Given the description of an element on the screen output the (x, y) to click on. 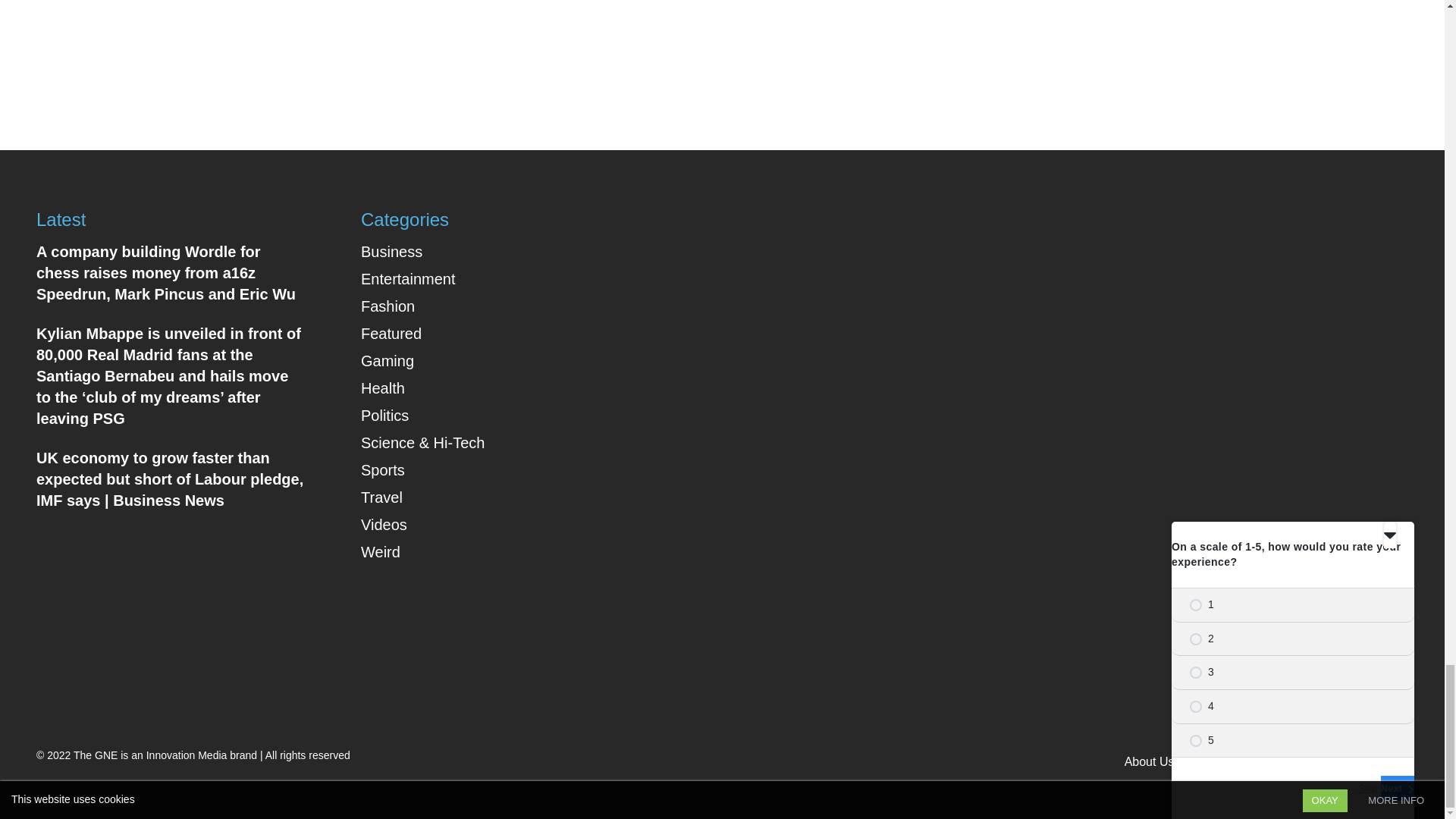
Health (382, 388)
Fashion (387, 306)
Business (391, 251)
Featured (391, 333)
Gaming (387, 360)
Politics (385, 415)
Entertainment (408, 279)
